Given the description of an element on the screen output the (x, y) to click on. 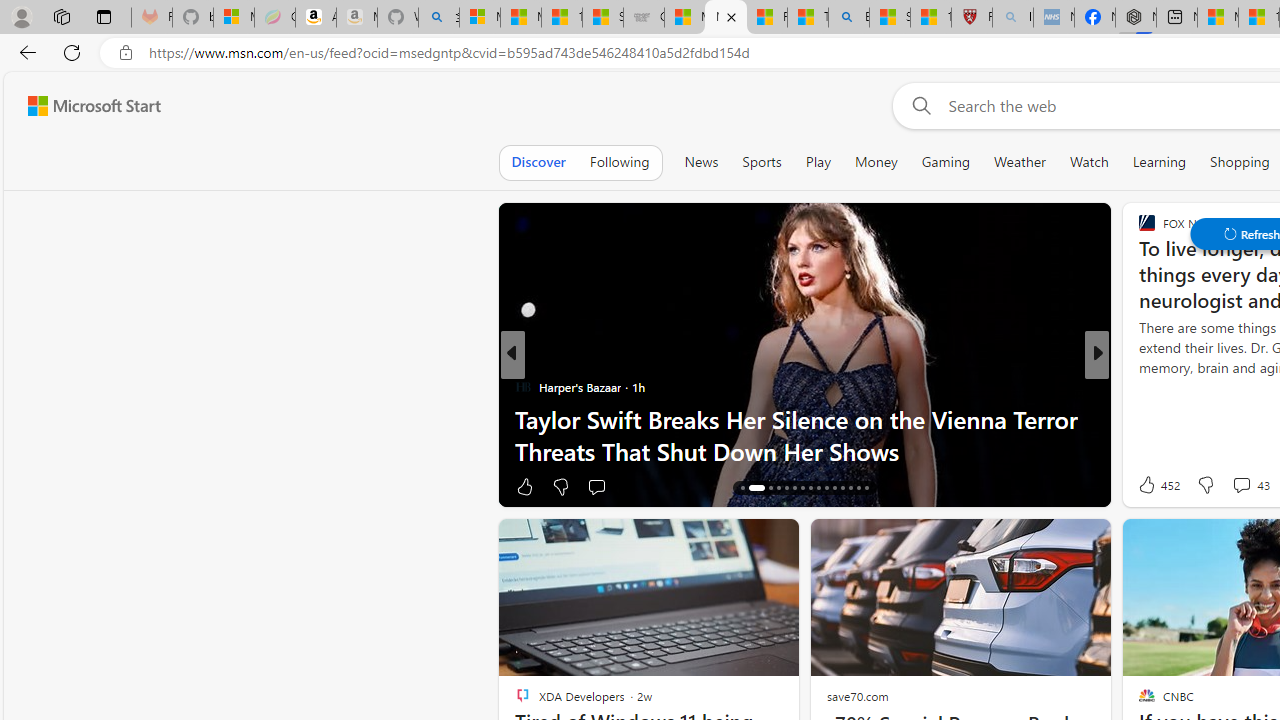
Recipes - MSN (767, 17)
AutomationID: tab-25 (825, 487)
MetroOpinion (552, 418)
INSIDER (1138, 386)
AutomationID: tab-23 (810, 487)
8 Like (1145, 486)
